Given the description of an element on the screen output the (x, y) to click on. 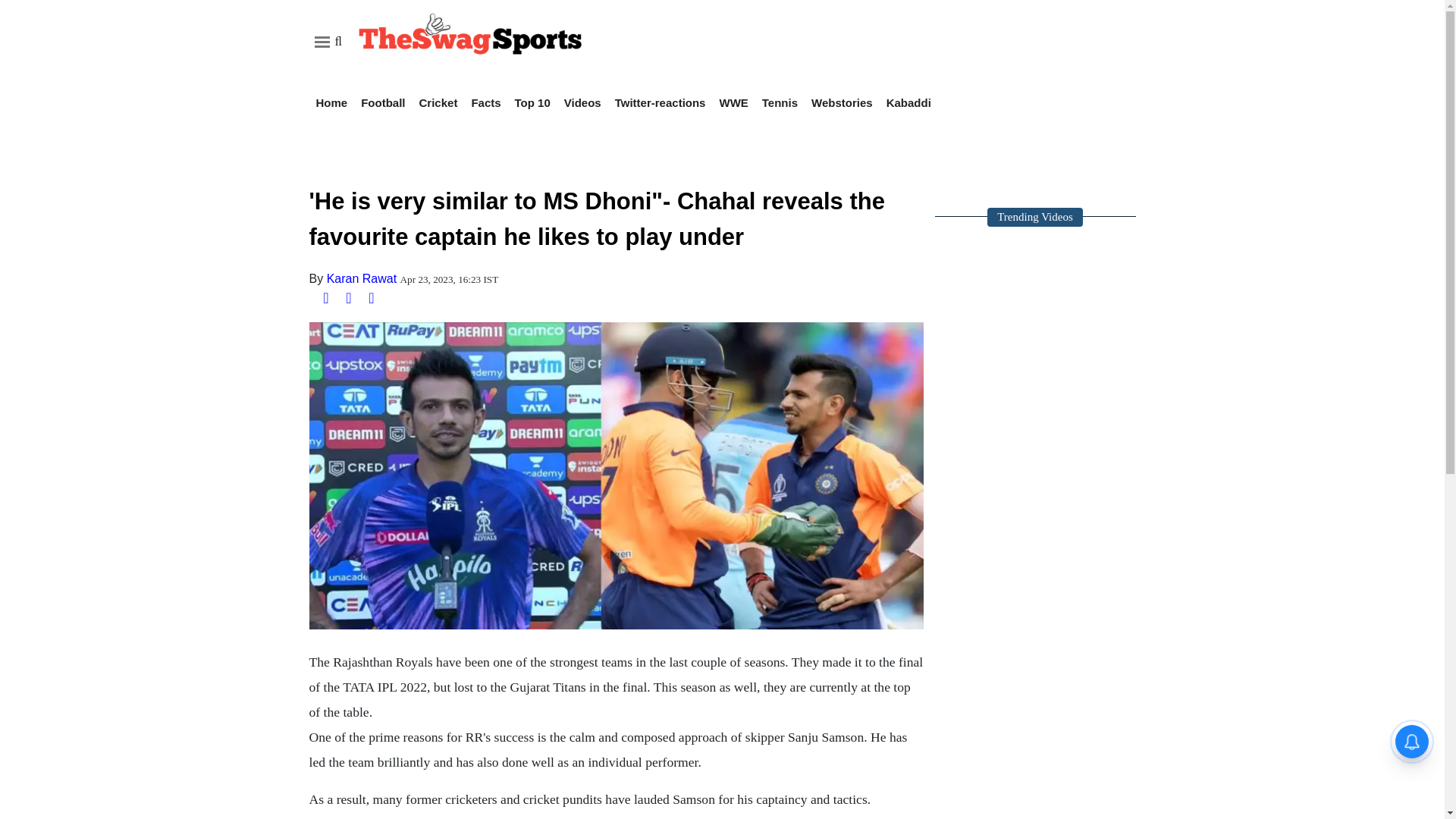
Videos (582, 102)
Webstories (841, 102)
Karan Rawat (361, 278)
Football (382, 102)
Facts (485, 102)
Cricket (438, 102)
Kabaddi (908, 102)
Twitter-reactions (660, 102)
Tennis (779, 102)
WWE (733, 102)
Top 10 (532, 102)
Home (331, 102)
